Given the description of an element on the screen output the (x, y) to click on. 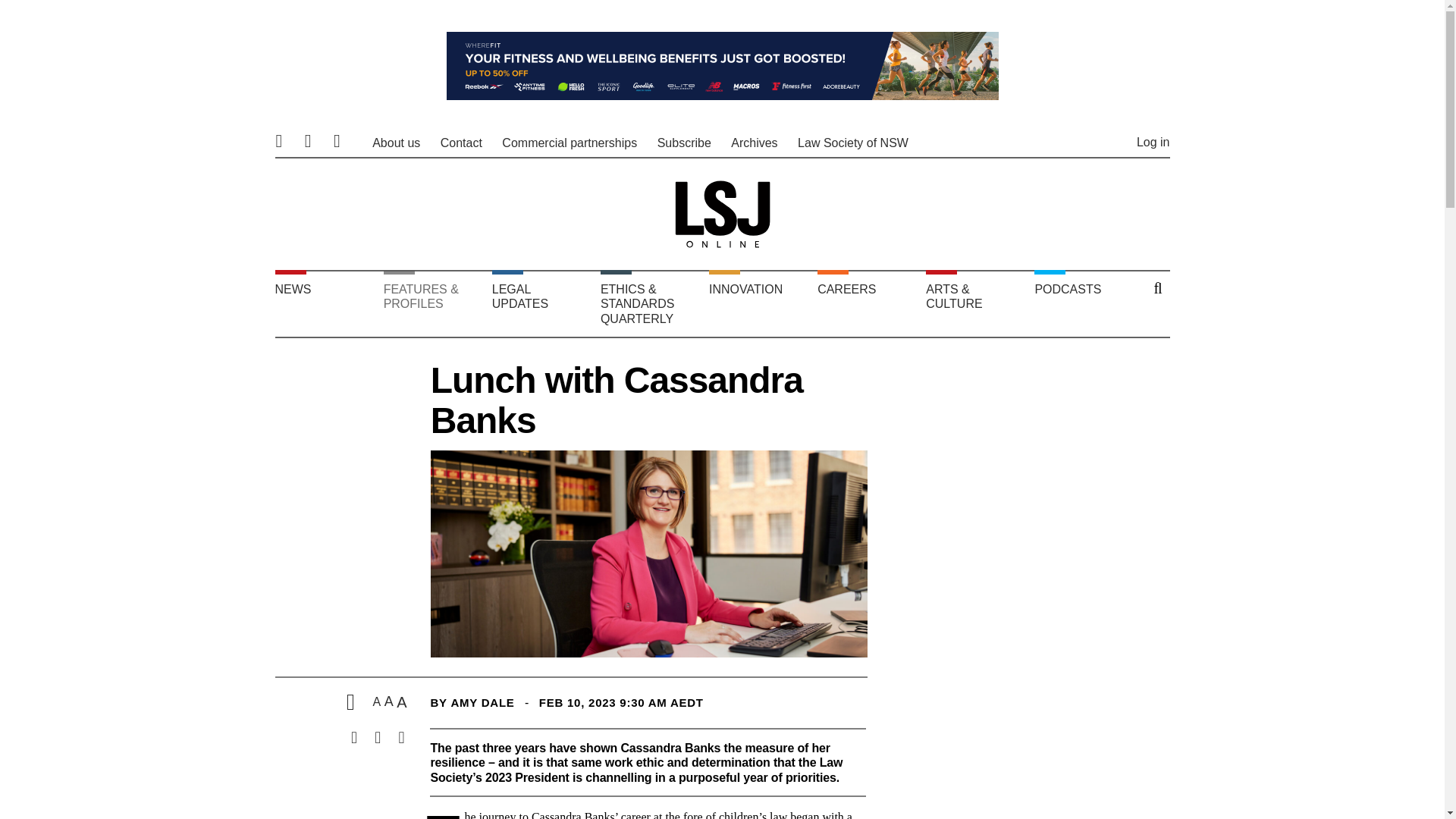
Posts by Amy Dale (481, 702)
INNOVATION (759, 303)
PODCASTS (1084, 303)
Subscribe (684, 142)
Archives (753, 142)
Contact (461, 142)
CAREERS (867, 303)
Commercial partnerships (569, 142)
Law Society of NSW (852, 142)
About us (396, 142)
Log in (1153, 141)
LEGAL UPDATES (542, 303)
NEWS (325, 303)
